Given the description of an element on the screen output the (x, y) to click on. 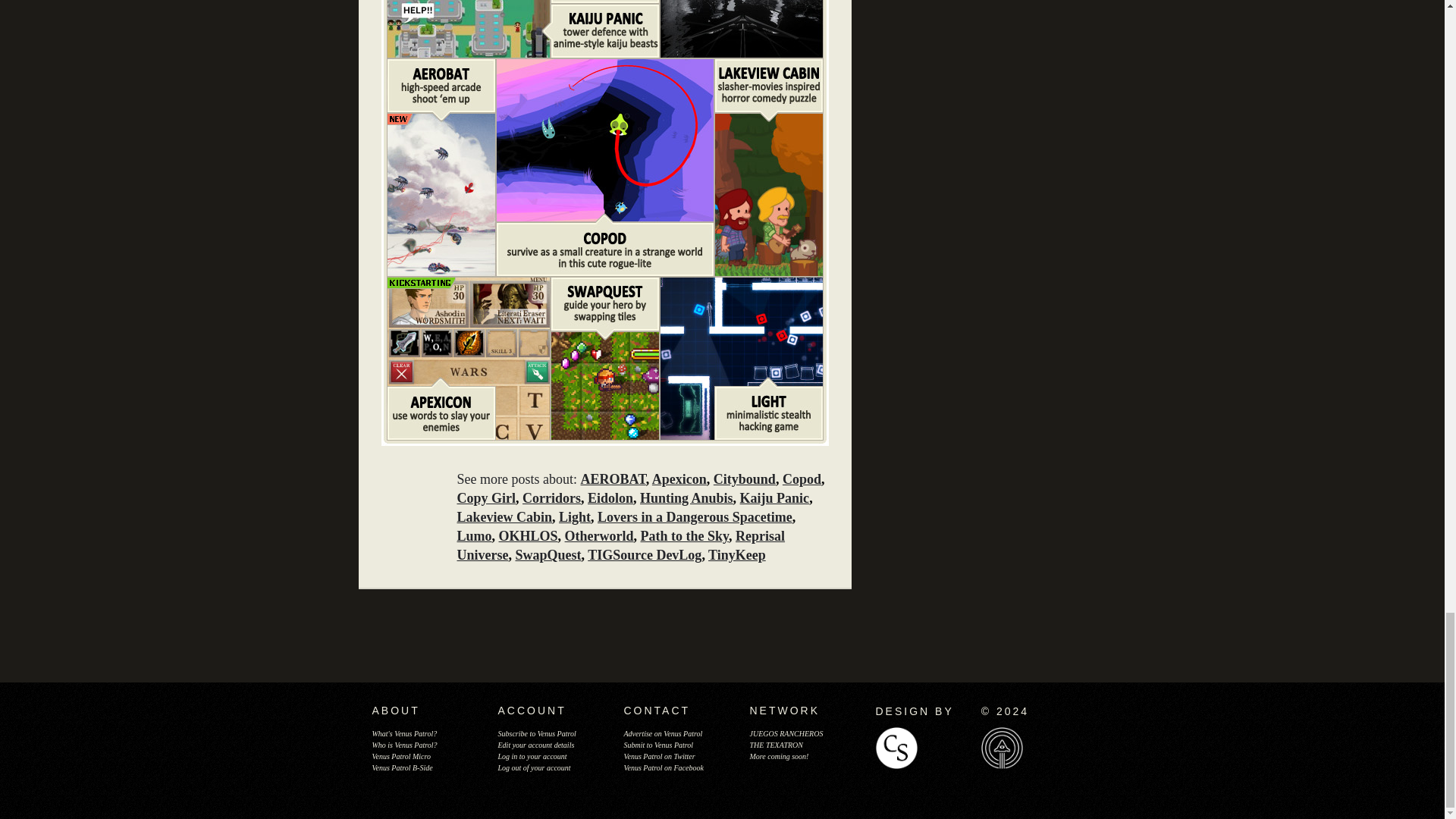
Hunting Anubis on TIGSource forums (740, 27)
Kaiju Panic on TIGSource forums (467, 27)
Copod on TIGSource forums (603, 138)
